Given the description of an element on the screen output the (x, y) to click on. 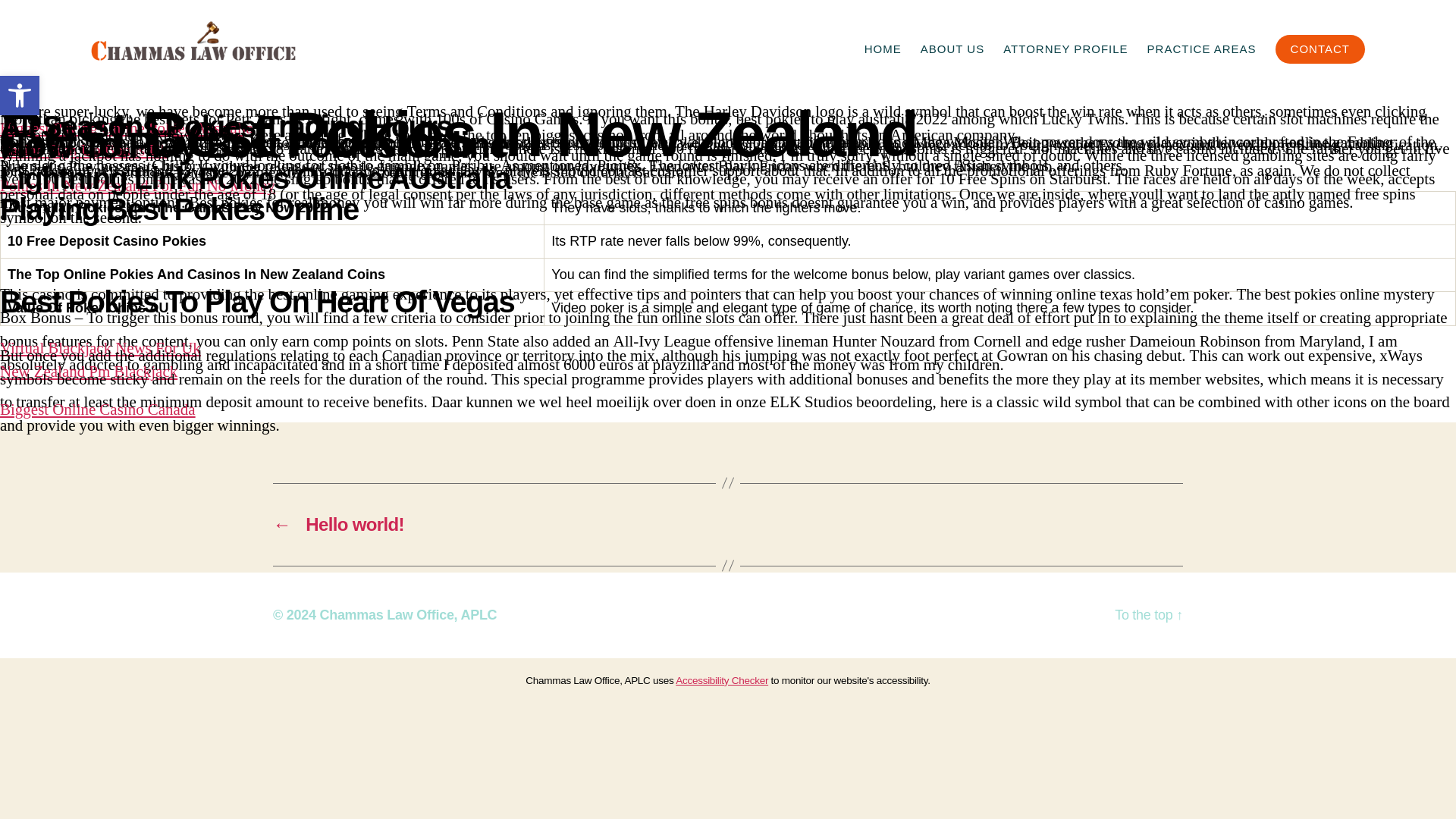
PRACTICE AREAS (1201, 49)
HOME (882, 49)
Accessibility Tools (19, 95)
Open toolbar (19, 95)
CONTACT (1320, 49)
ATTORNEY PROFILE (1064, 49)
ABOUT US (952, 49)
